Given the description of an element on the screen output the (x, y) to click on. 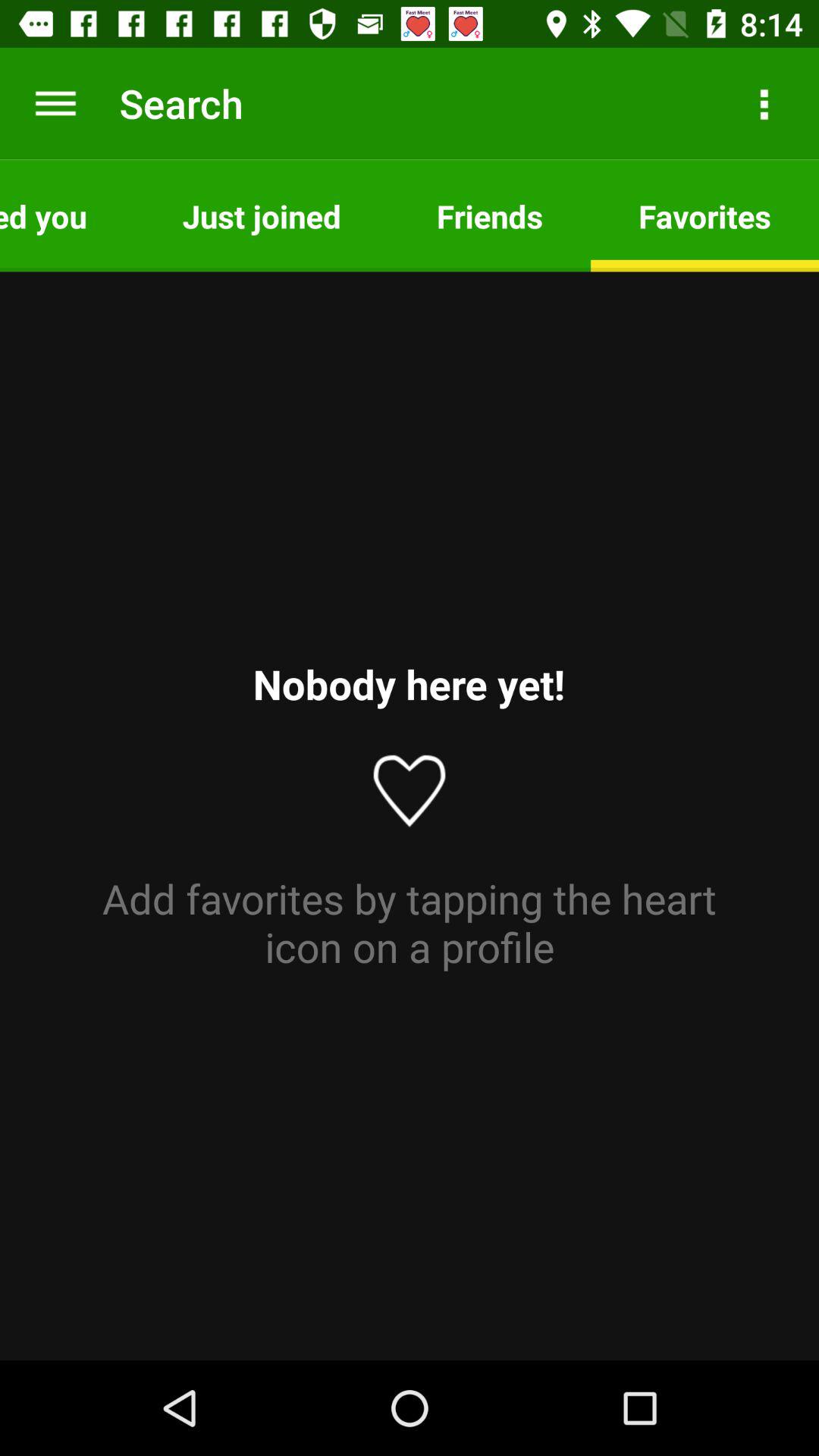
launch the icon next to liked you app (261, 215)
